Given the description of an element on the screen output the (x, y) to click on. 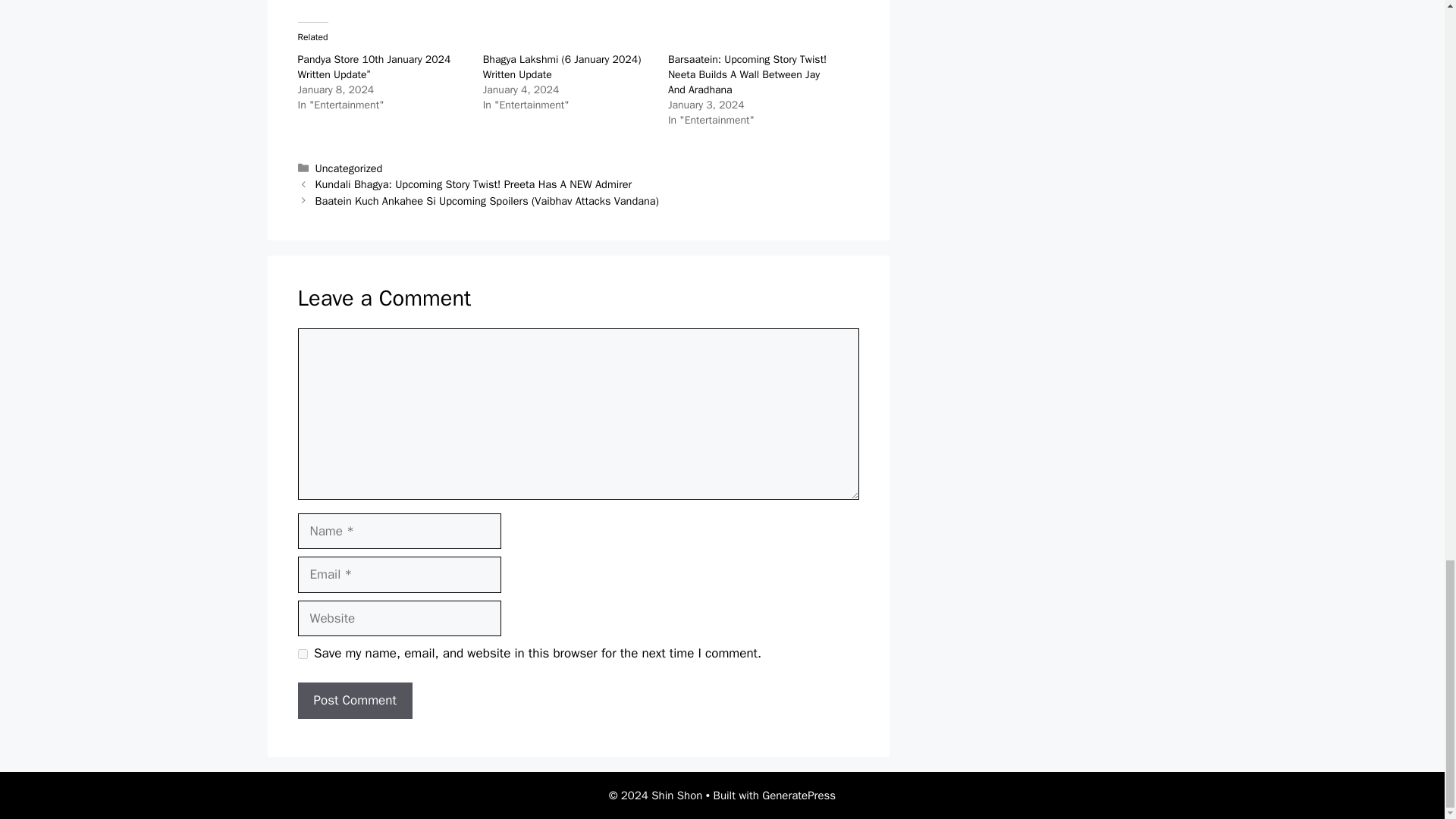
Post Comment (354, 700)
GeneratePress (798, 795)
Post Comment (354, 700)
yes (302, 654)
Uncategorized (348, 168)
